Given the description of an element on the screen output the (x, y) to click on. 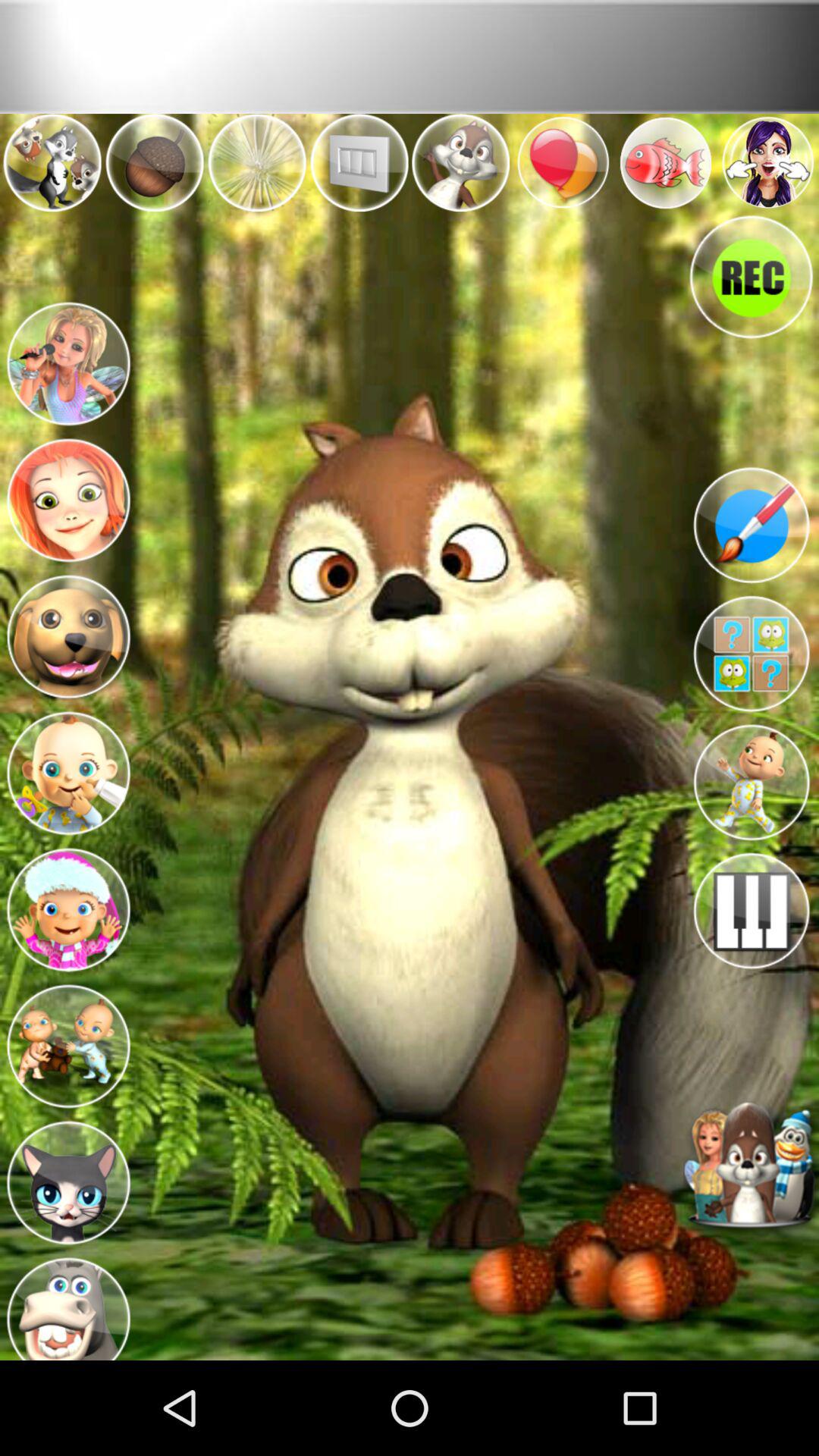
add music (751, 910)
